Given the description of an element on the screen output the (x, y) to click on. 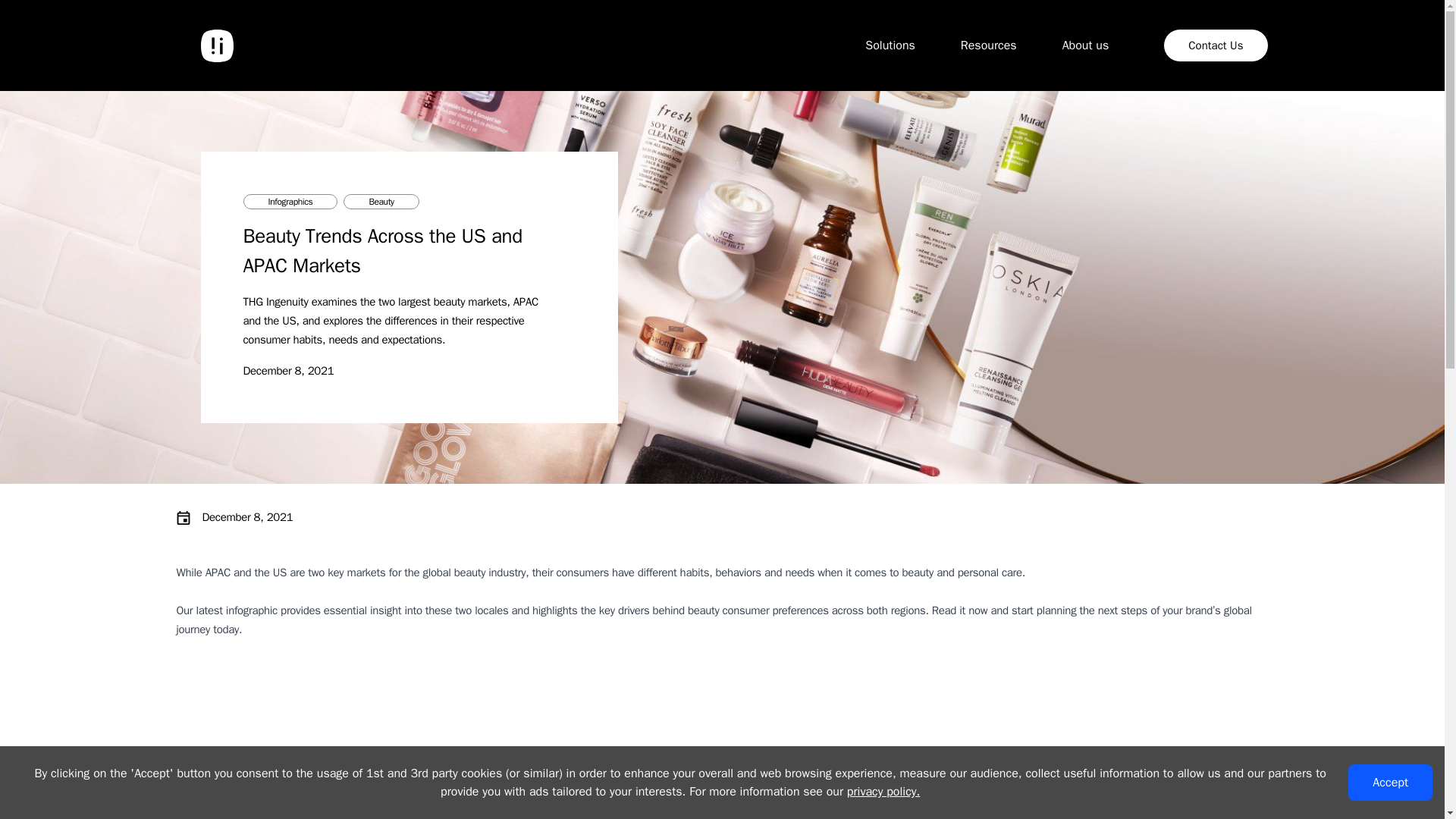
Contact Us (1215, 45)
Resources (1084, 45)
privacy policy. (890, 45)
